Given the description of an element on the screen output the (x, y) to click on. 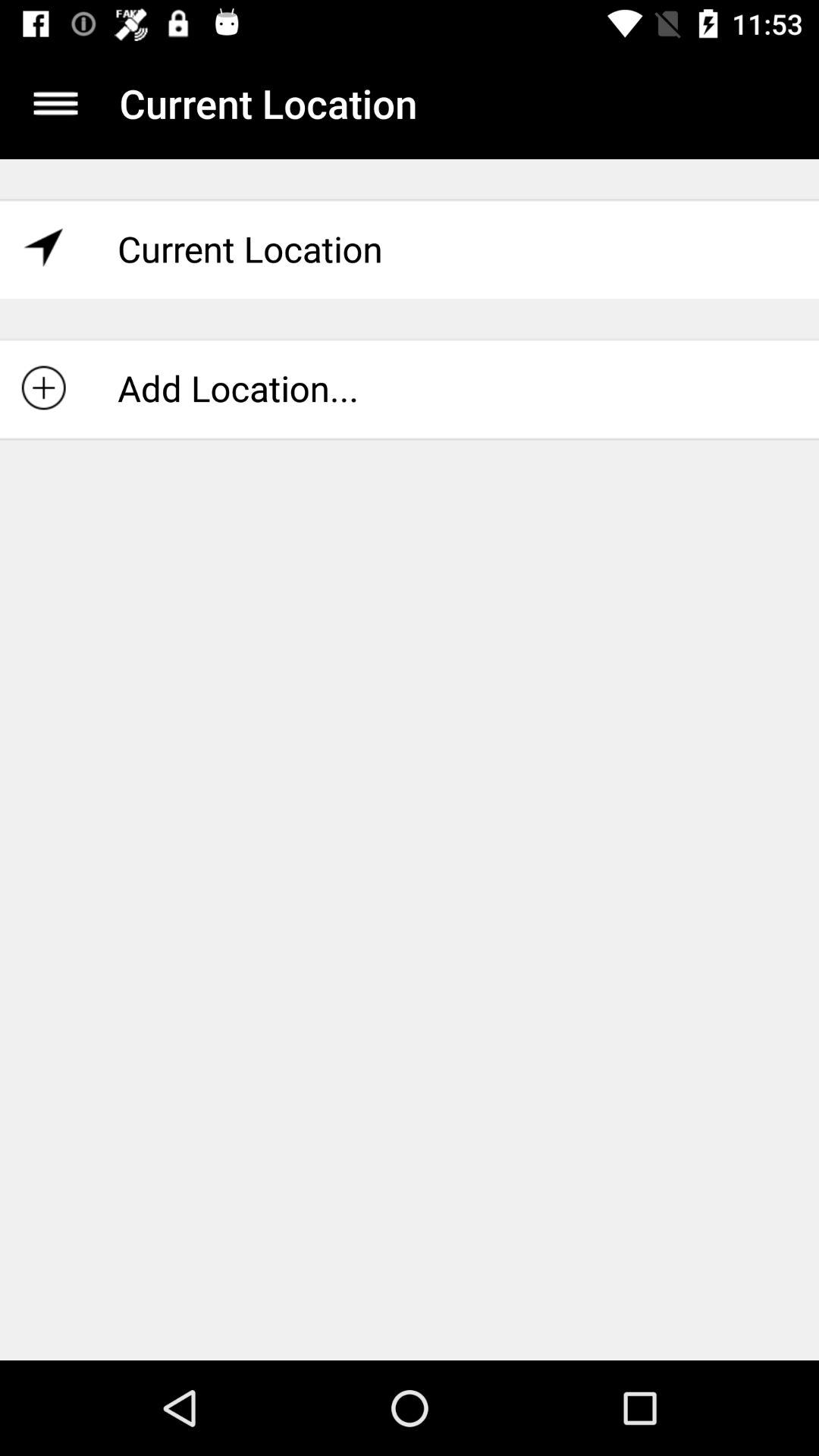
press the app next to the current location item (55, 103)
